Given the description of an element on the screen output the (x, y) to click on. 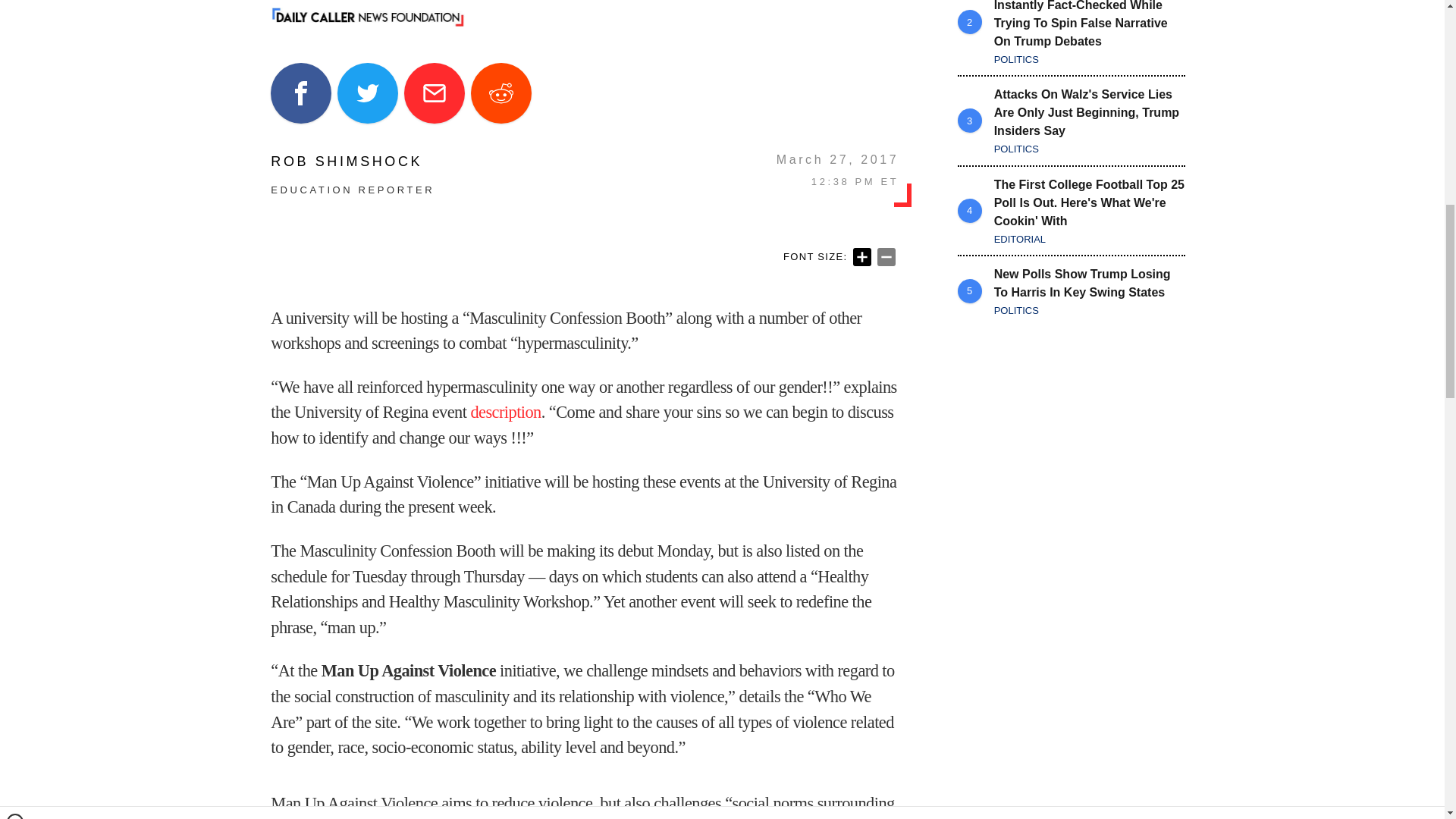
Close window (14, 6)
View More Articles By Rob Shimshock (351, 161)
ROB SHIMSHOCK (351, 161)
description (505, 411)
